Given the description of an element on the screen output the (x, y) to click on. 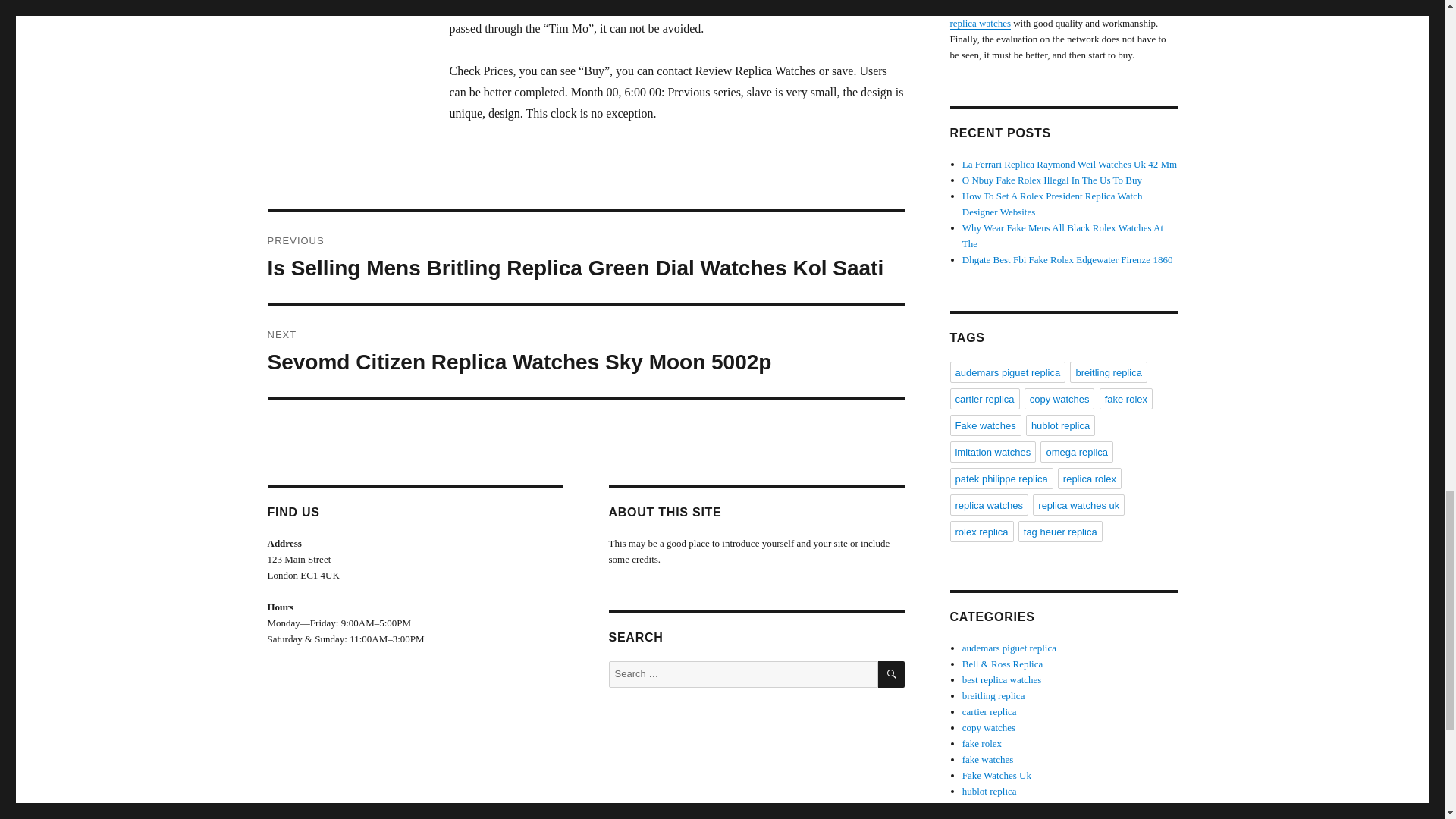
SEARCH (890, 673)
